Given the description of an element on the screen output the (x, y) to click on. 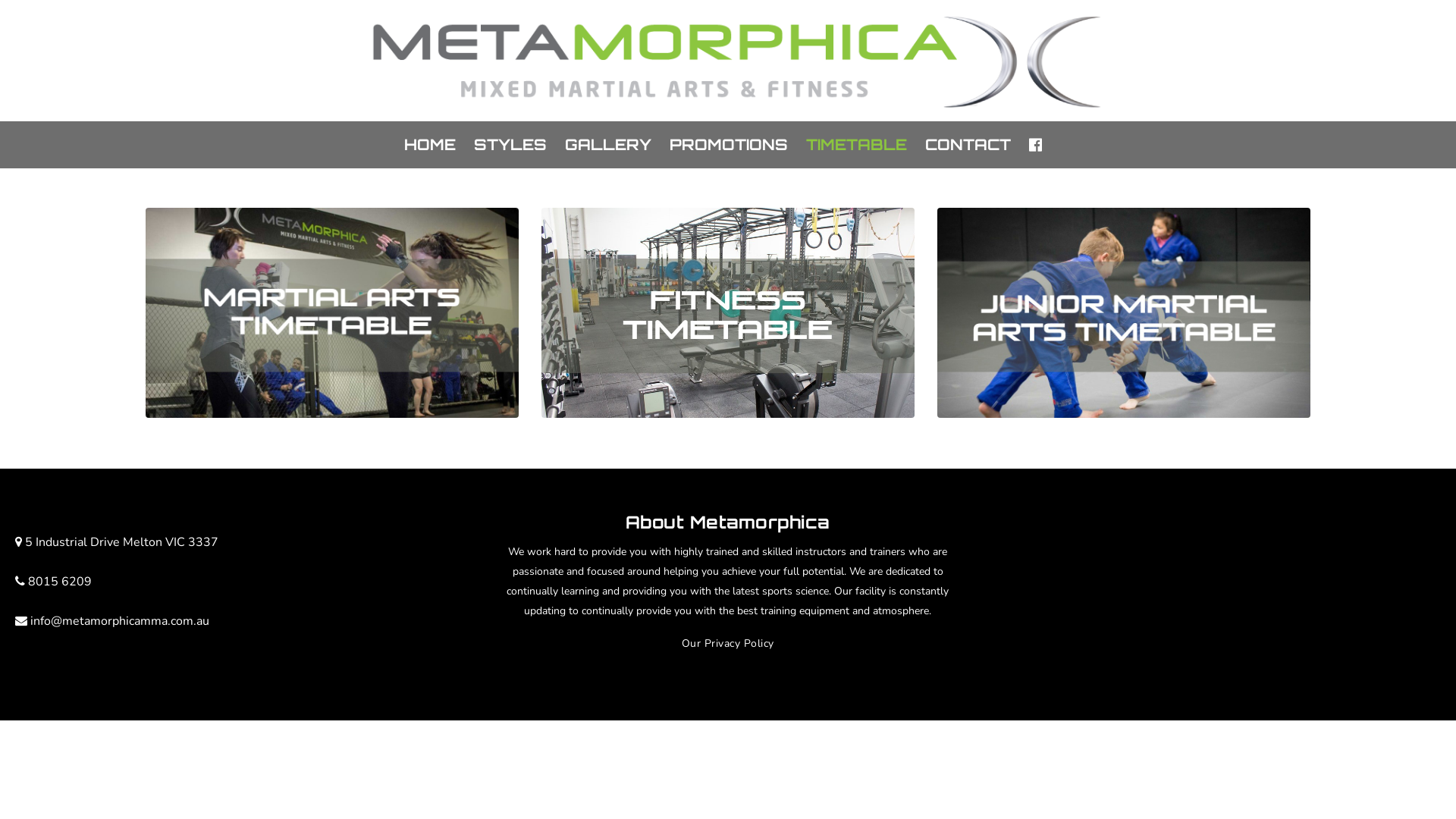
Skip to navigation Element type: text (42, 129)
PROMOTIONS Element type: text (727, 144)
TIMETABLE Element type: text (855, 144)
8015 6209 Element type: text (59, 581)
Our Privacy Policy Element type: text (727, 643)
GALLERY Element type: text (607, 144)
info@metamorphicamma.com.au Element type: text (119, 620)
CONTACT Element type: text (967, 144)
STYLES Element type: text (509, 144)
5 Industrial Drive Melton VIC 3337 Element type: text (121, 541)
Skip to content Element type: text (36, 129)
HOME Element type: text (428, 144)
